Given the description of an element on the screen output the (x, y) to click on. 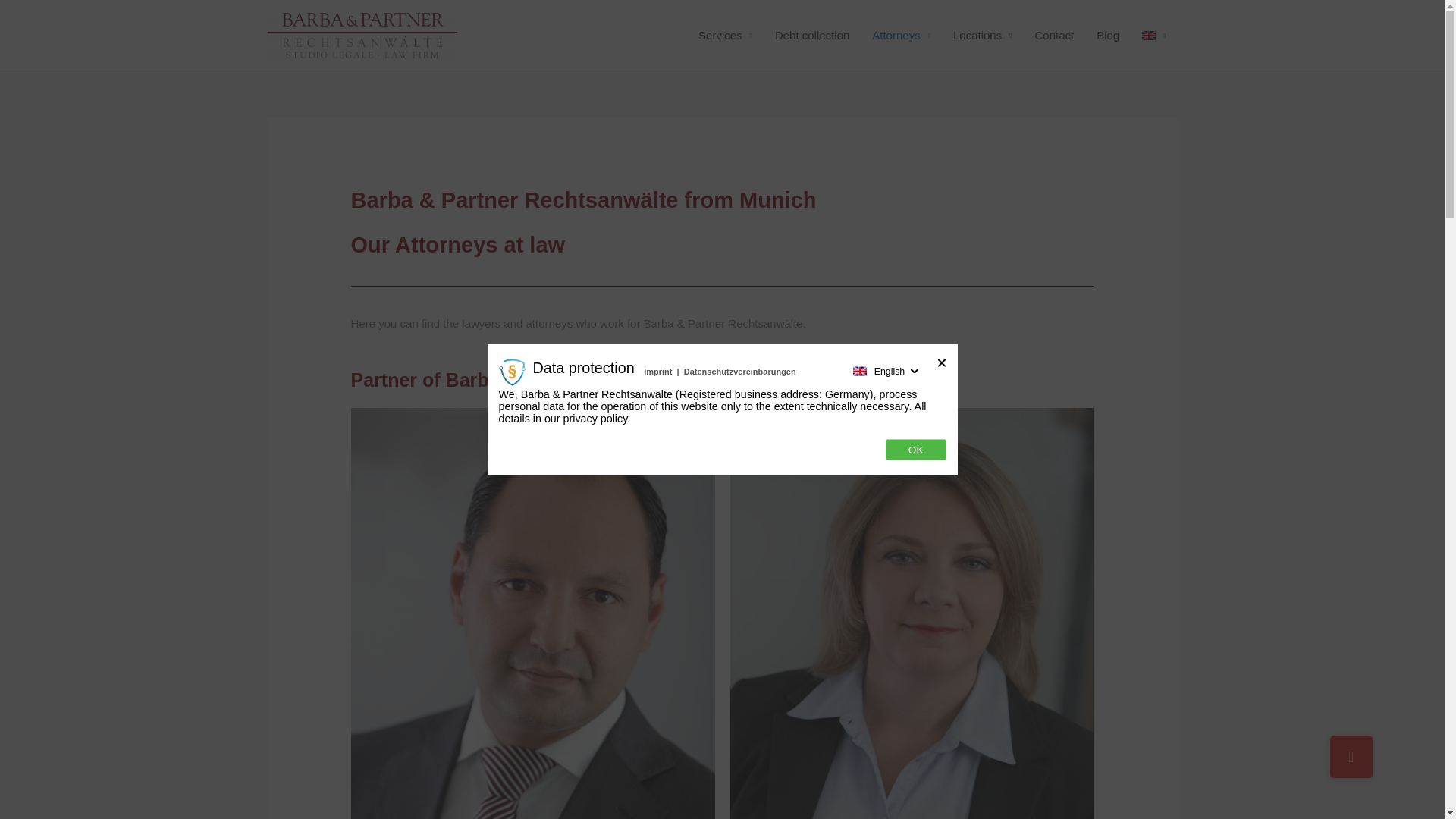
Locations (982, 35)
Services (724, 35)
Debt collection (811, 35)
Attorneys (901, 35)
